Given the description of an element on the screen output the (x, y) to click on. 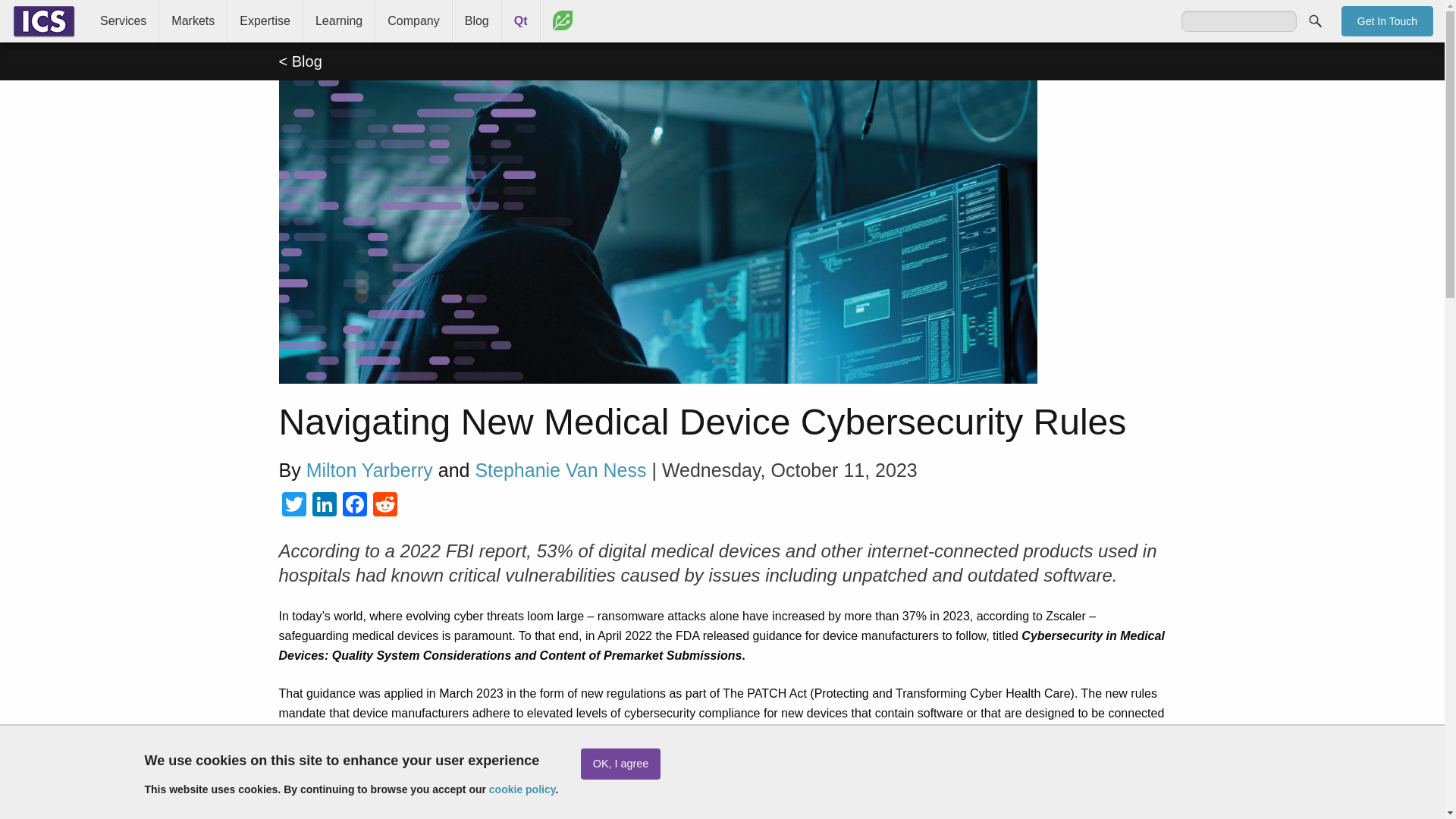
Expertise (264, 21)
Search (1315, 20)
ICS (44, 21)
cookie policy (522, 788)
Learning (338, 21)
Enter the terms you wish to search for. (1238, 20)
Blog (476, 21)
OK, I agree (619, 763)
Services (122, 21)
